Given the description of an element on the screen output the (x, y) to click on. 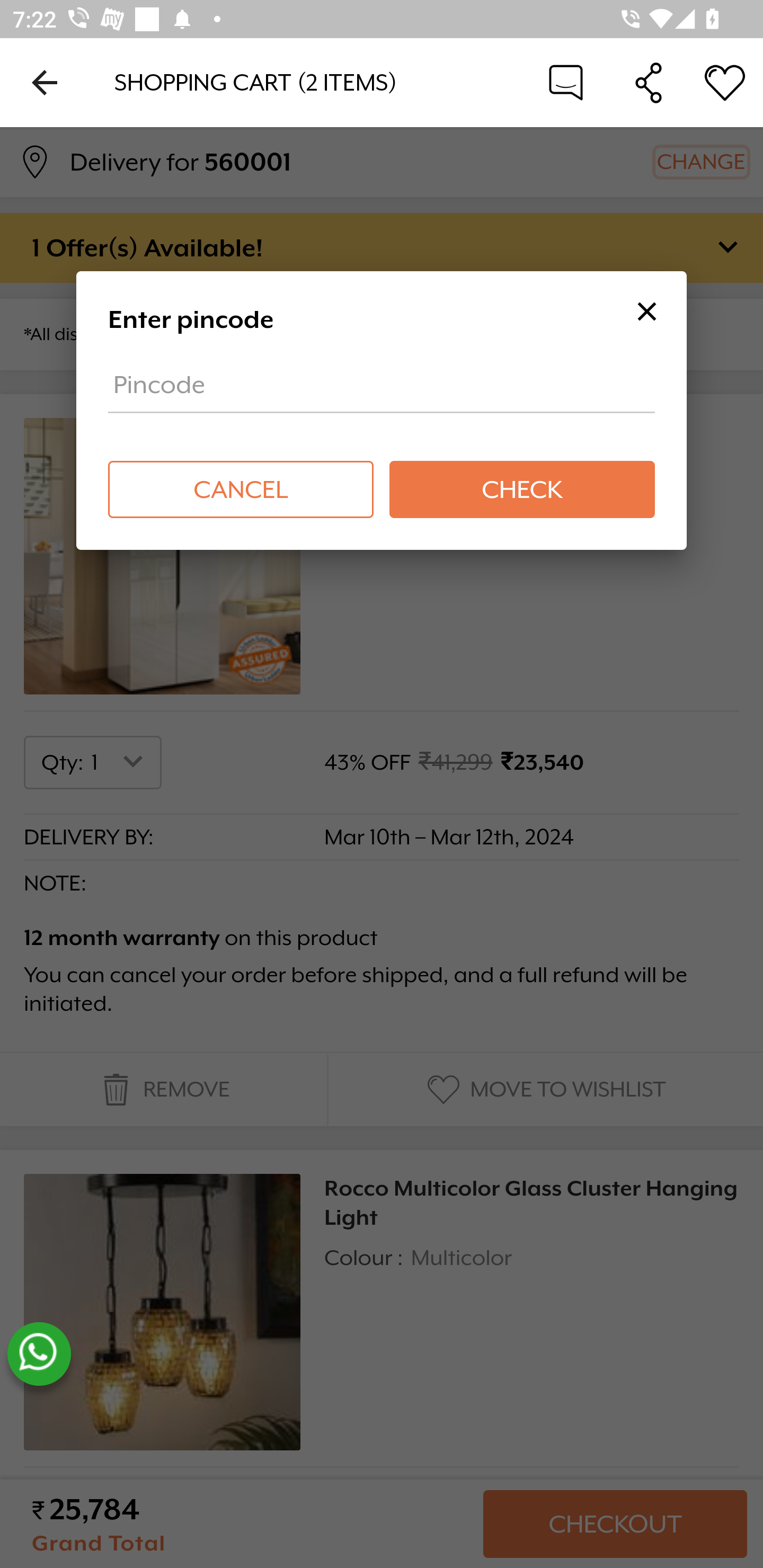
Navigate up (44, 82)
Chat (565, 81)
Share Cart (648, 81)
Wishlist (724, 81)
Pincode (381, 390)
CANCEL (240, 489)
CHECK (521, 489)
whatsapp (38, 1353)
